Given the description of an element on the screen output the (x, y) to click on. 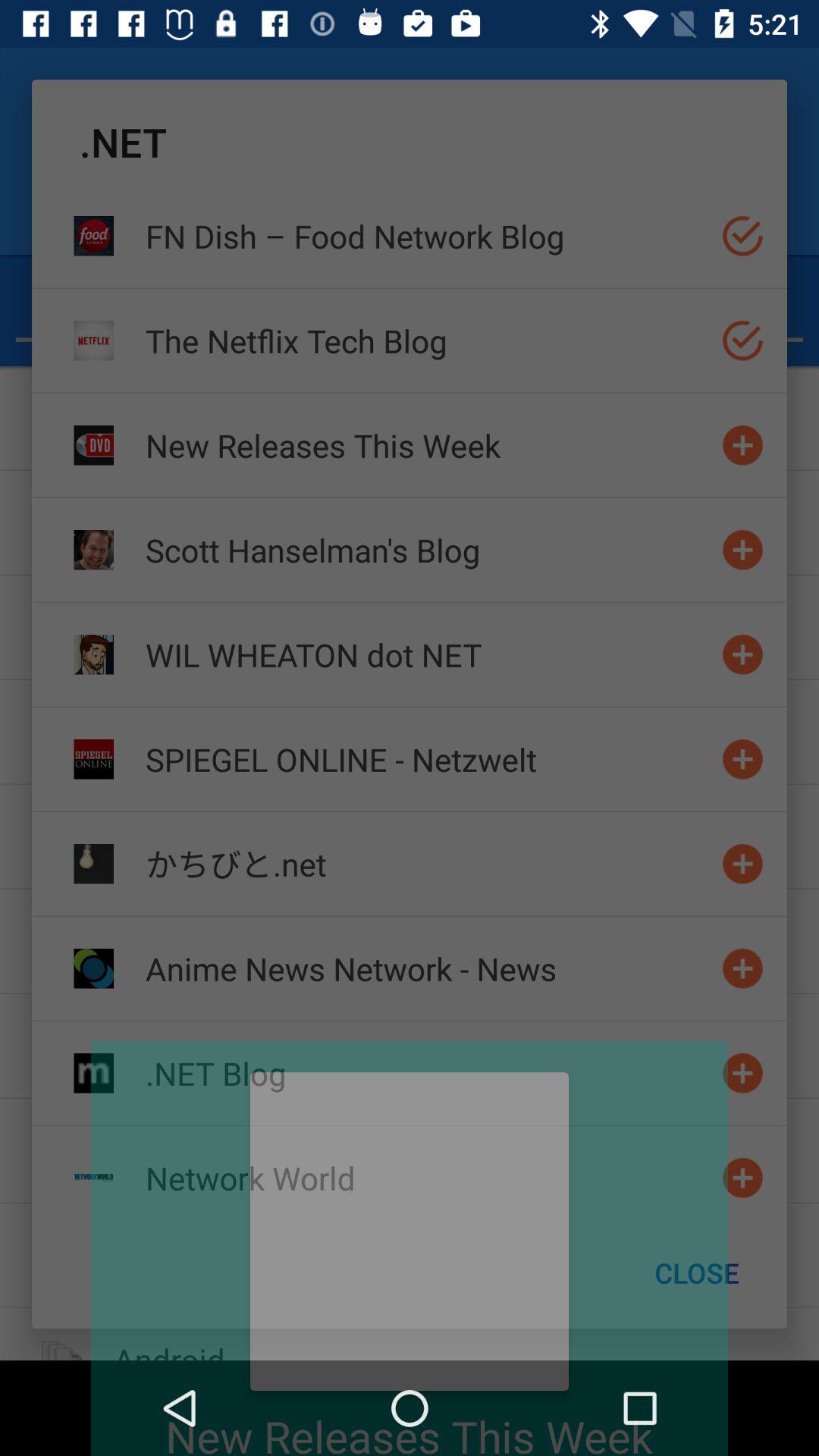
go do add (742, 549)
